Given the description of an element on the screen output the (x, y) to click on. 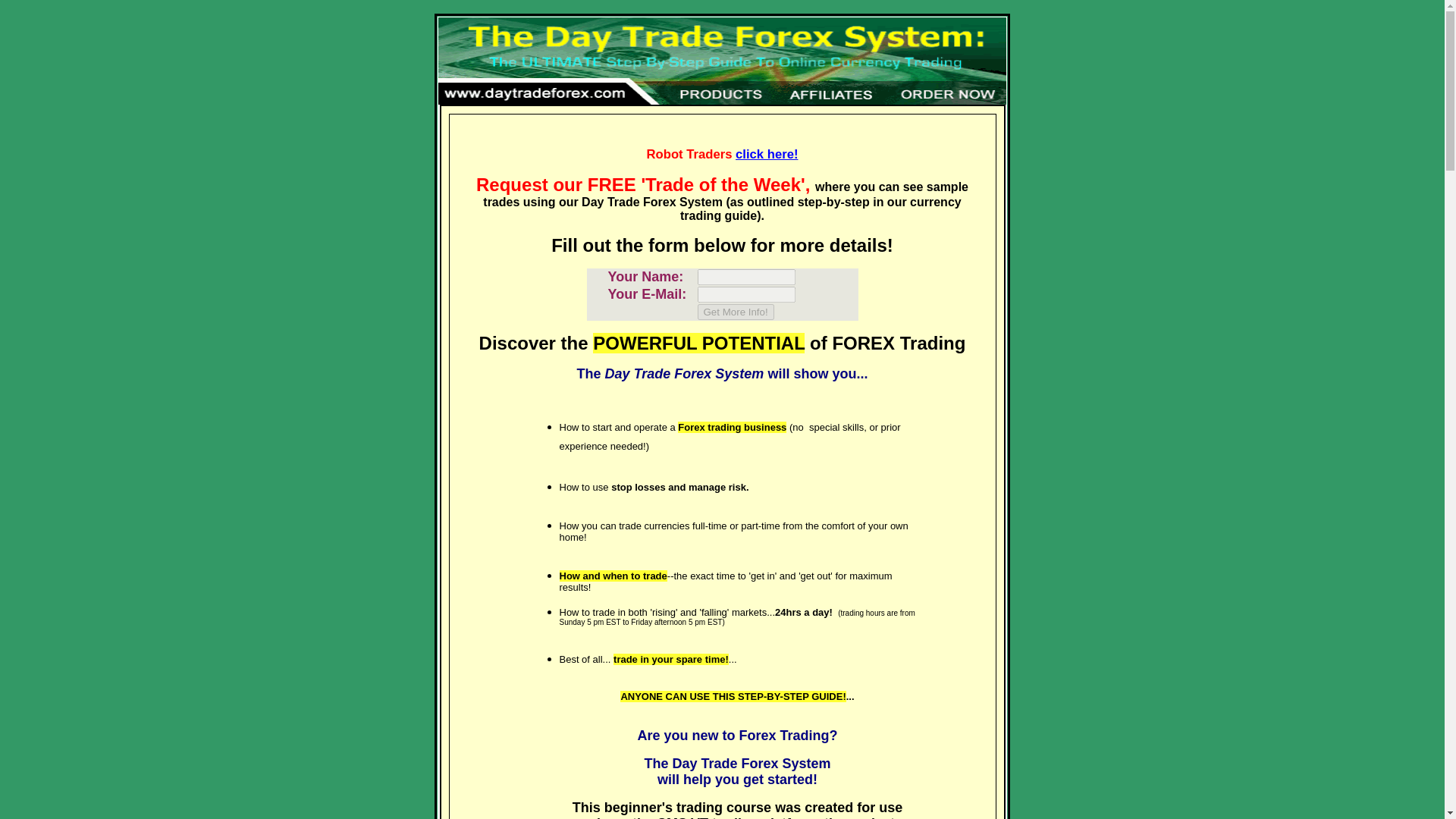
Get More Info! (735, 311)
Get More Info! (735, 311)
click here! (766, 154)
